Given the description of an element on the screen output the (x, y) to click on. 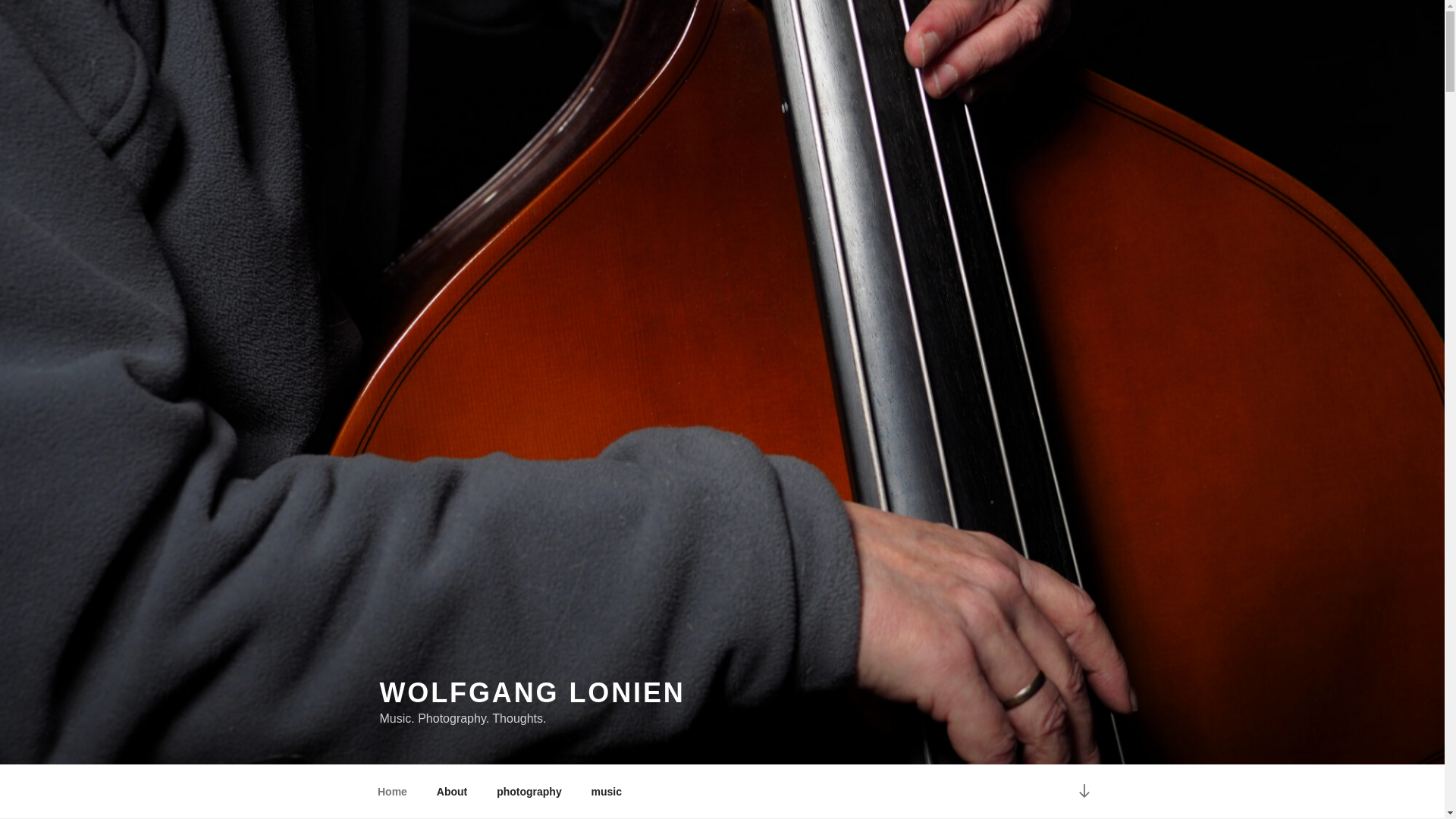
music (606, 791)
WOLFGANG LONIEN (531, 692)
Scroll down to content (1082, 791)
Scroll down to content (1082, 791)
About (451, 791)
photography (529, 791)
Home (392, 791)
